Given the description of an element on the screen output the (x, y) to click on. 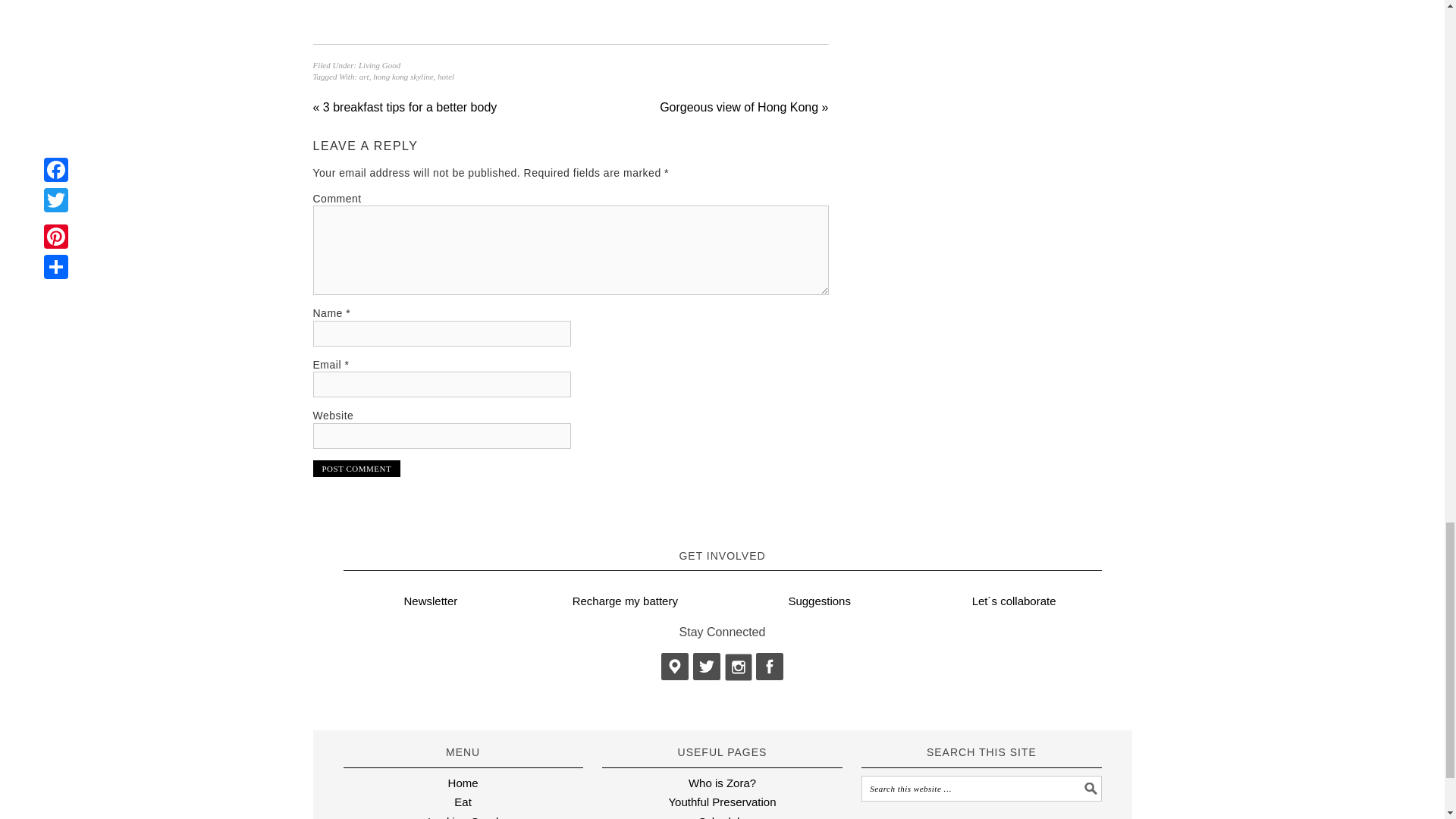
Post Comment (356, 468)
art (364, 76)
Living Good (379, 64)
hong kong skyline (402, 76)
hotel (446, 76)
Post Comment (356, 468)
